Given the description of an element on the screen output the (x, y) to click on. 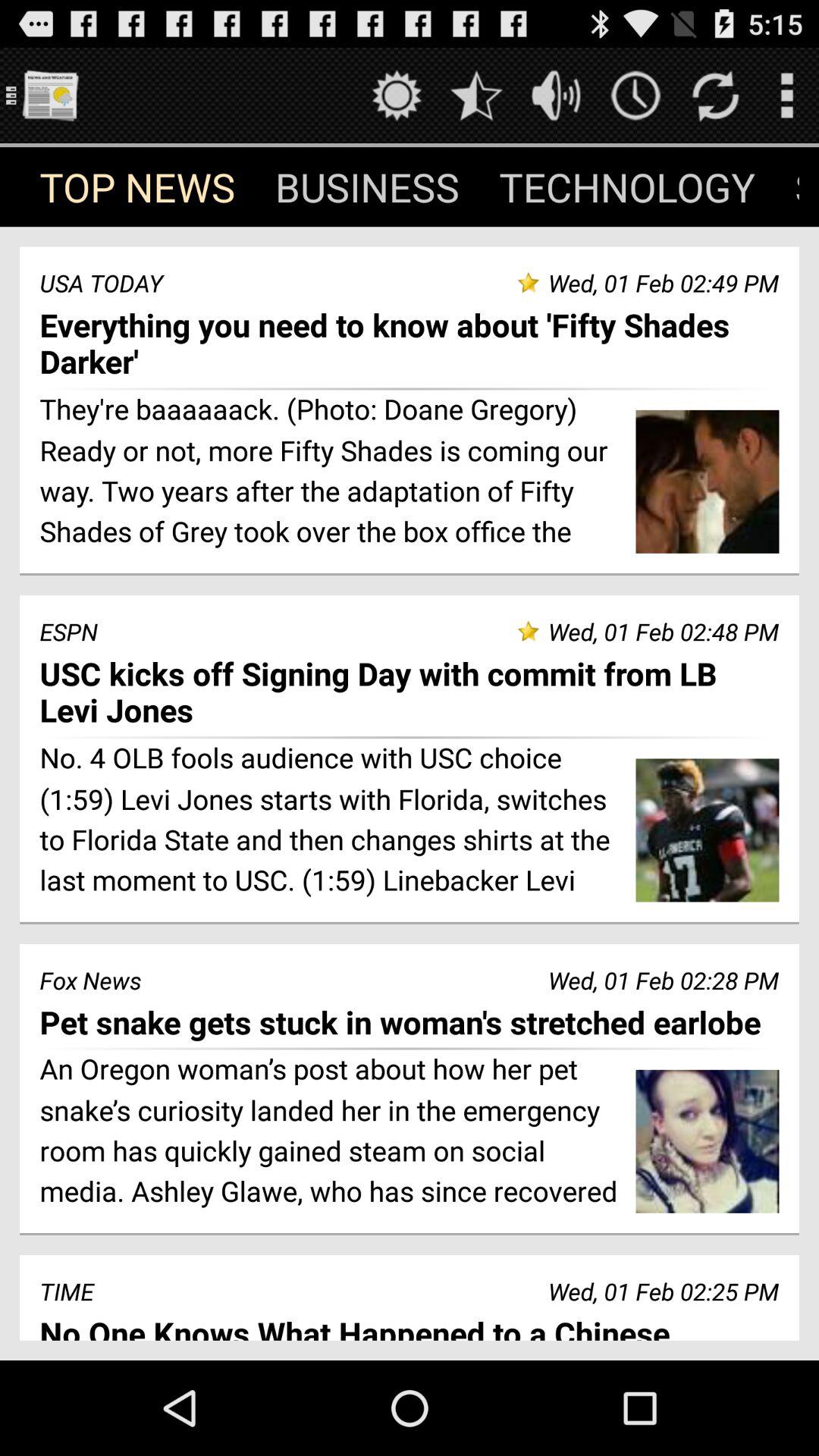
click on business (367, 186)
select the second image in the page (707, 830)
click on image of first news article (707, 481)
click on the first left menu bar (137, 186)
select the button left to the star button in the page (396, 95)
